Given the description of an element on the screen output the (x, y) to click on. 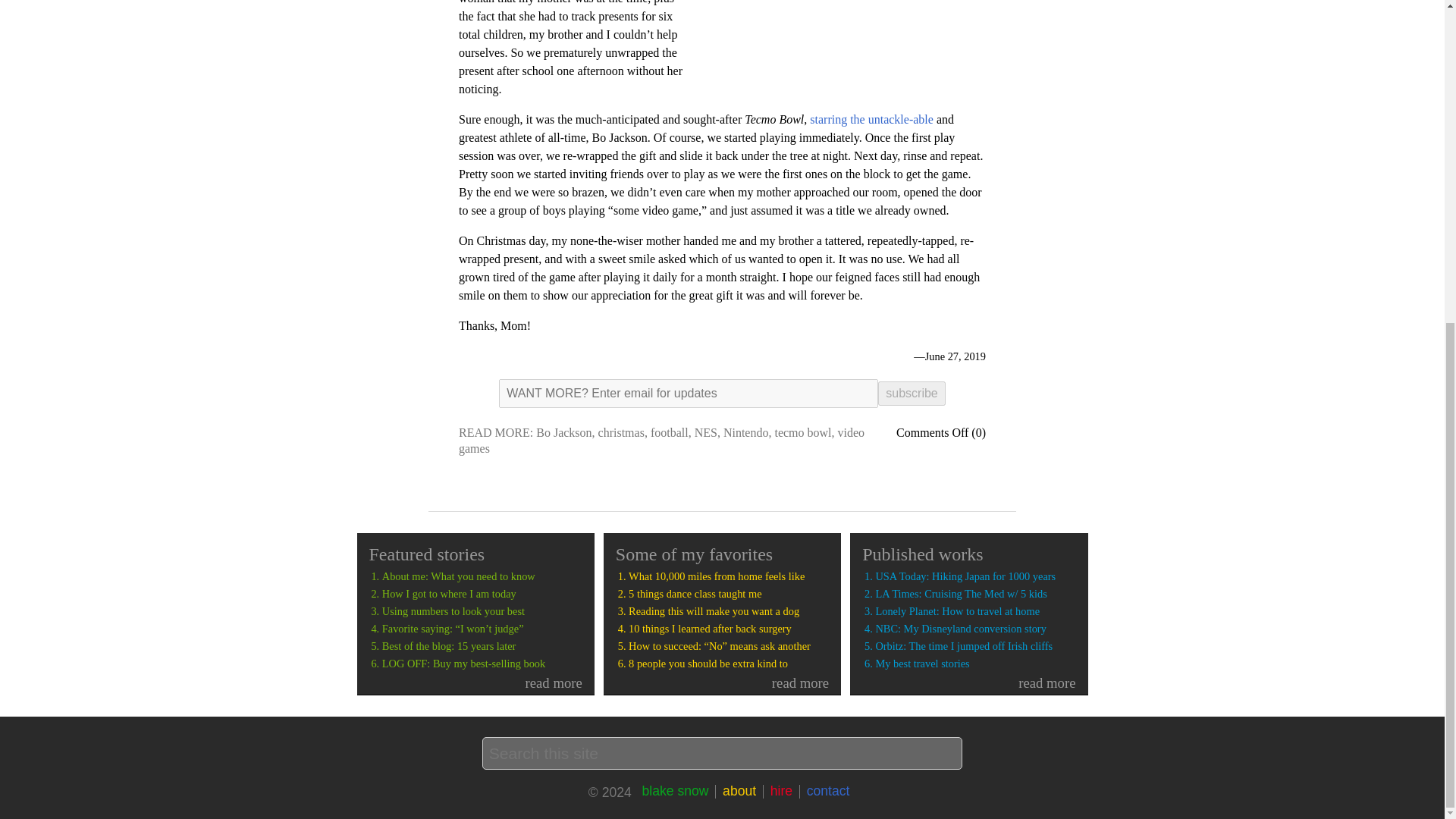
What 10,000 miles from home feels like (728, 576)
starring the untackle-able (871, 119)
read more (728, 682)
christmas (621, 431)
5 things dance class taught me (728, 594)
subscribe (910, 393)
Best of the blog: 15 years later (481, 645)
Lonely Planet: How to travel at home (975, 611)
tecmo bowl (802, 431)
LOG OFF: Buy my best-selling book (481, 663)
USA Today: Hiking Japan for 1000 years (975, 576)
10 things I learned after back surgery (728, 628)
Orbitz: The time I jumped off Irish cliffs (975, 645)
About me: What you need to know (481, 576)
Nintendo (745, 431)
